Given the description of an element on the screen output the (x, y) to click on. 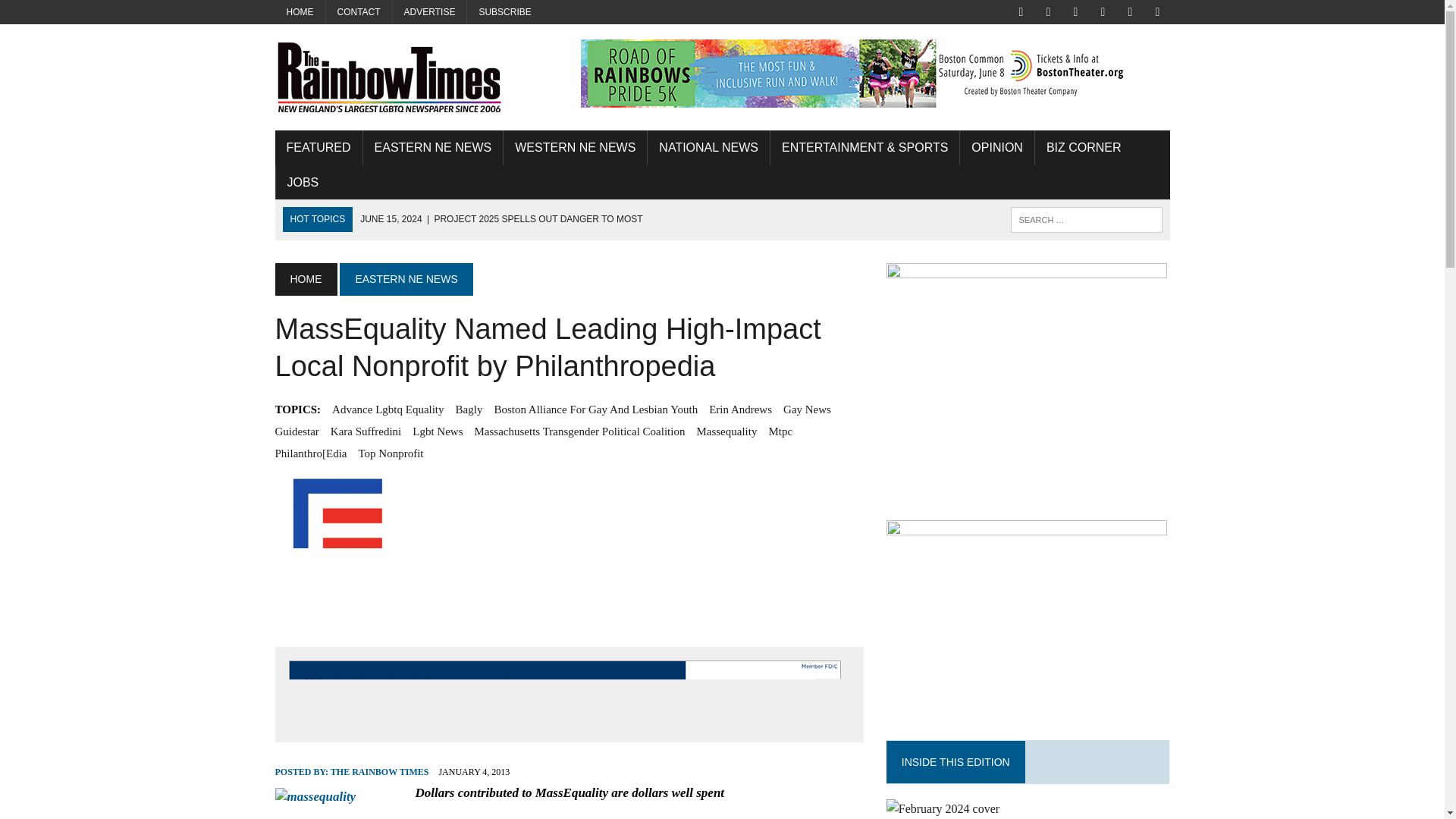
HOME (305, 278)
HOME (299, 12)
JOBS (303, 182)
Bagly (469, 409)
FEATURED (318, 147)
OPINION (996, 147)
ADVERTISE (430, 12)
Search (75, 14)
NATIONAL NEWS (708, 147)
CONTACT (358, 12)
